Given the description of an element on the screen output the (x, y) to click on. 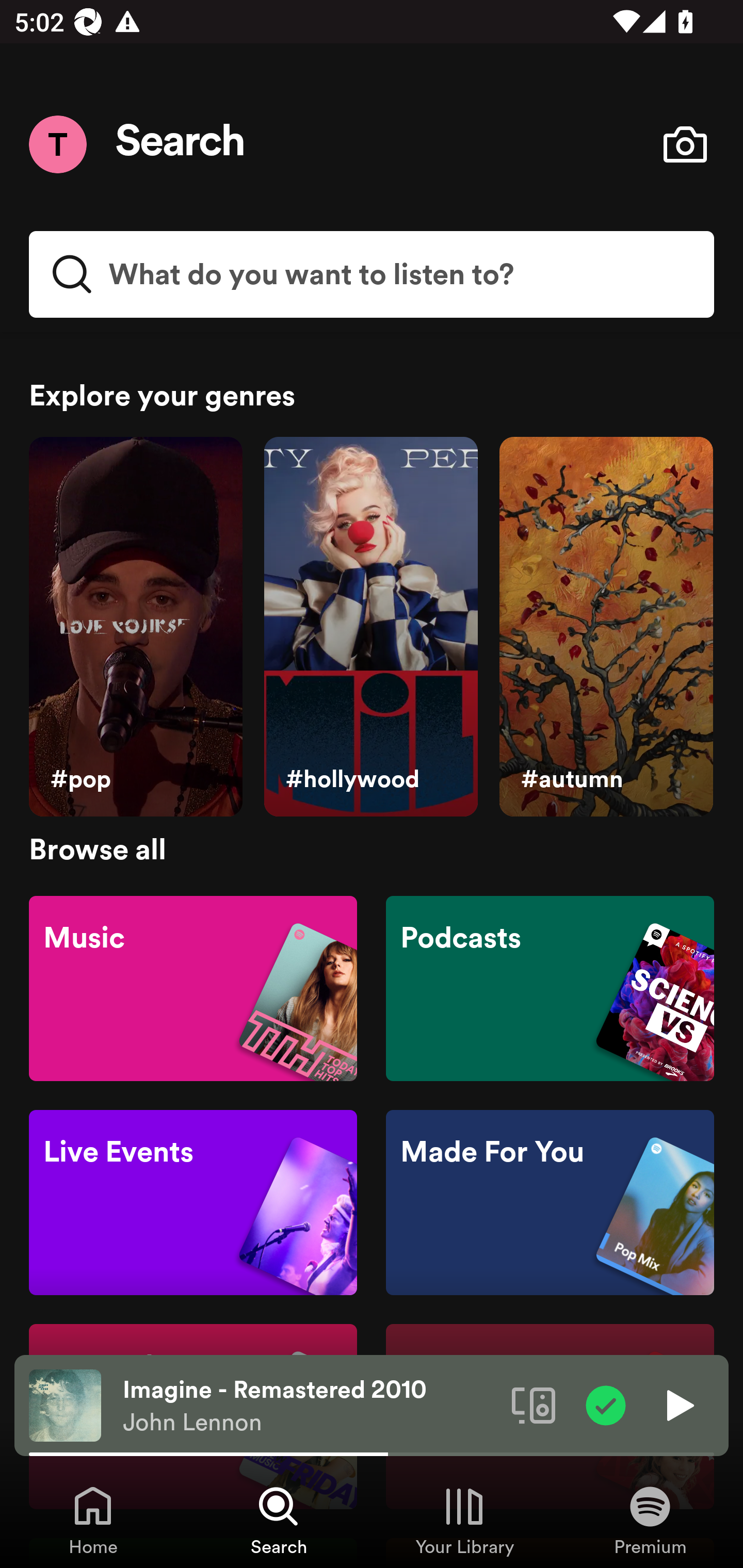
Menu (57, 144)
Open camera (685, 145)
Search (180, 144)
#pop (135, 626)
#hollywood (370, 626)
#autumn (606, 626)
Music (192, 987)
Podcasts (549, 987)
Live Events (192, 1202)
Made For You (549, 1202)
Imagine - Remastered 2010 John Lennon (309, 1405)
The cover art of the currently playing track (64, 1404)
Connect to a device. Opens the devices menu (533, 1404)
Item added (605, 1404)
Play (677, 1404)
Home, Tab 1 of 4 Home Home (92, 1519)
Search, Tab 2 of 4 Search Search (278, 1519)
Your Library, Tab 3 of 4 Your Library Your Library (464, 1519)
Premium, Tab 4 of 4 Premium Premium (650, 1519)
